Given the description of an element on the screen output the (x, y) to click on. 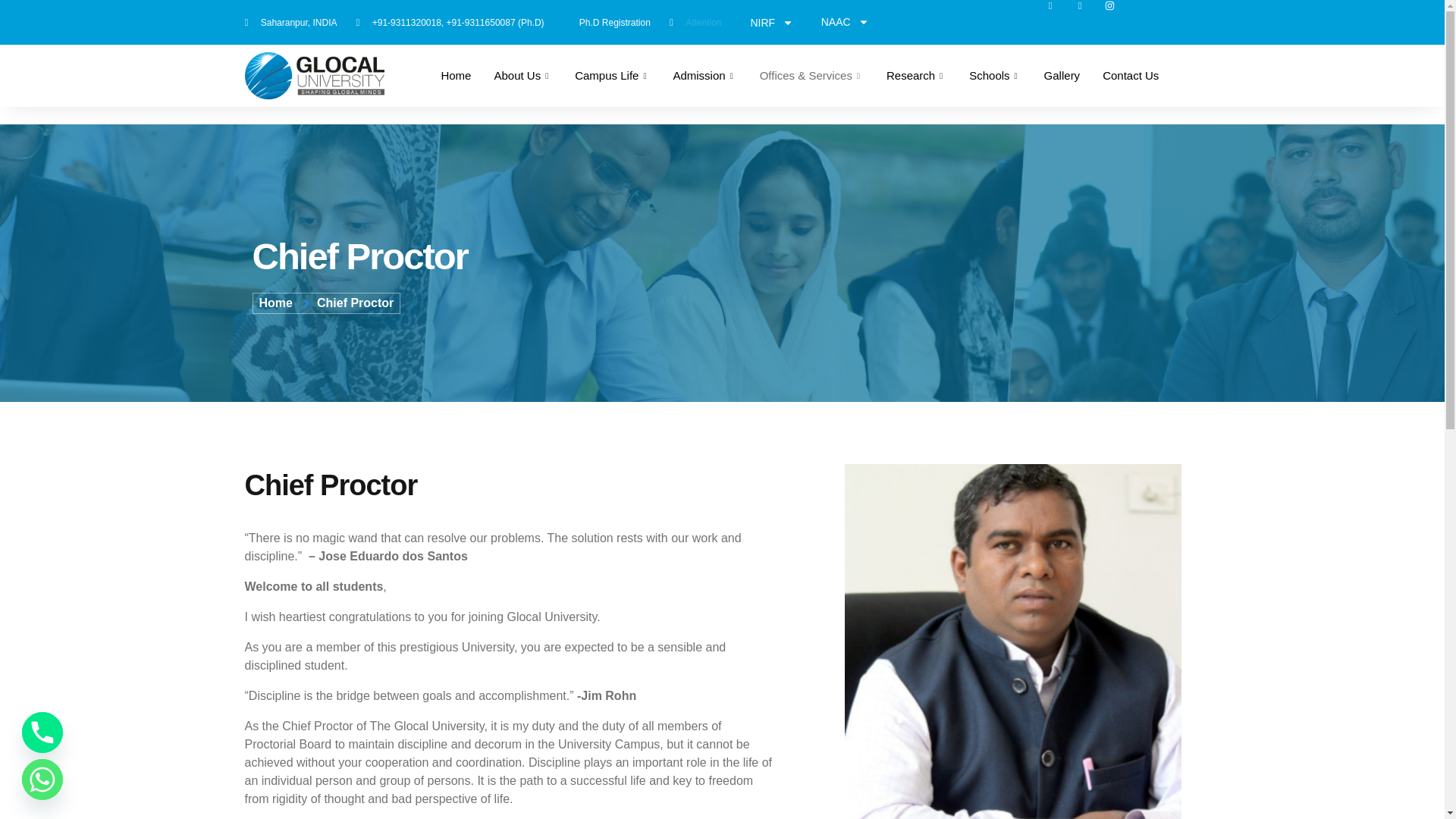
Home (455, 75)
About Us (522, 75)
NAAC (844, 21)
Ph.D Registration (606, 22)
Attention (695, 22)
NIRF (772, 21)
